Given the description of an element on the screen output the (x, y) to click on. 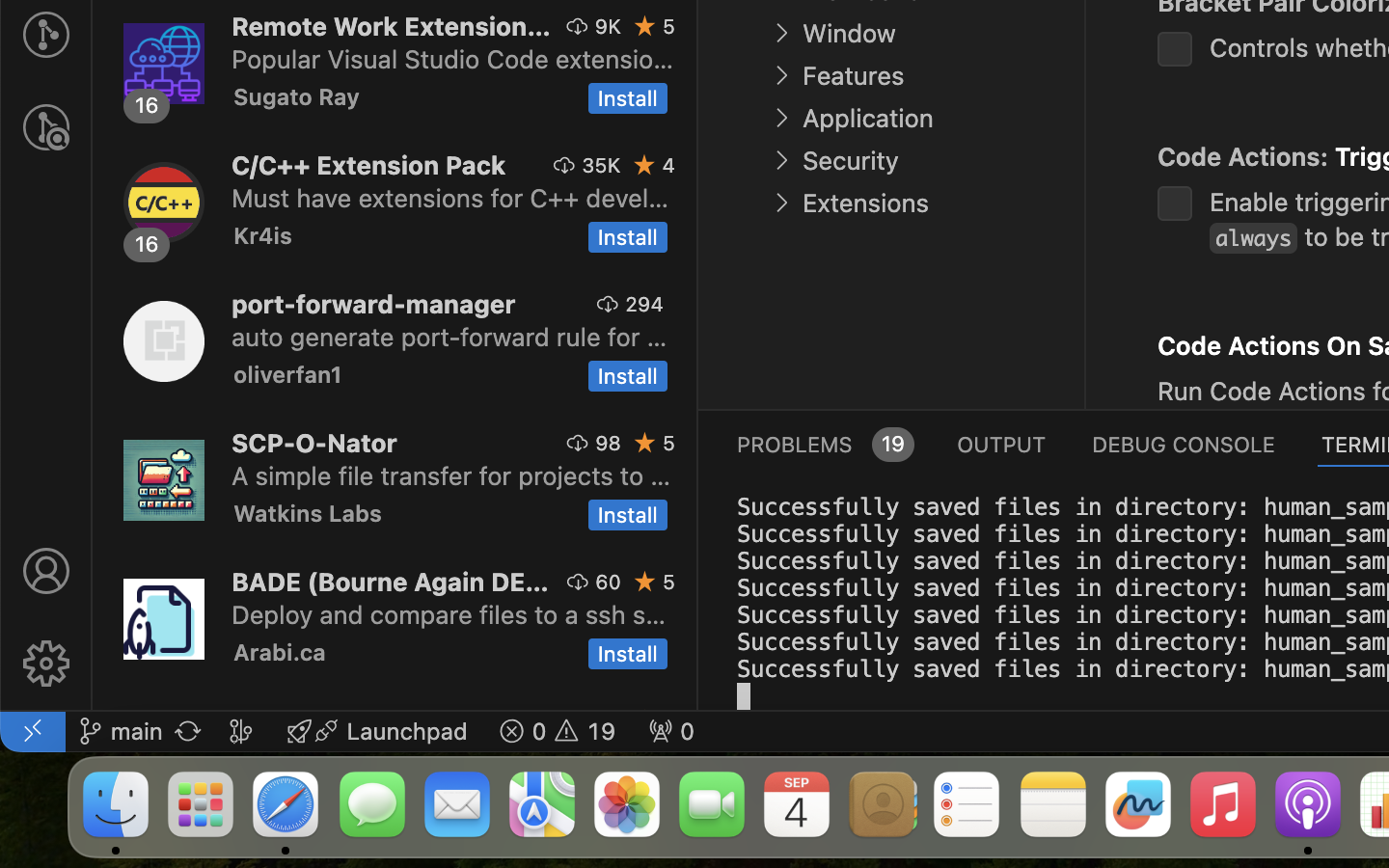
 0 Element type: AXButton (671, 730)
0 PROBLEMS 19 Element type: AXRadioButton (824, 443)
C/C++ Extension Pack Element type: AXStaticText (369, 164)
Code Actions: Element type: AXStaticText (1245, 156)
16 Element type: AXStaticText (147, 104)
